Given the description of an element on the screen output the (x, y) to click on. 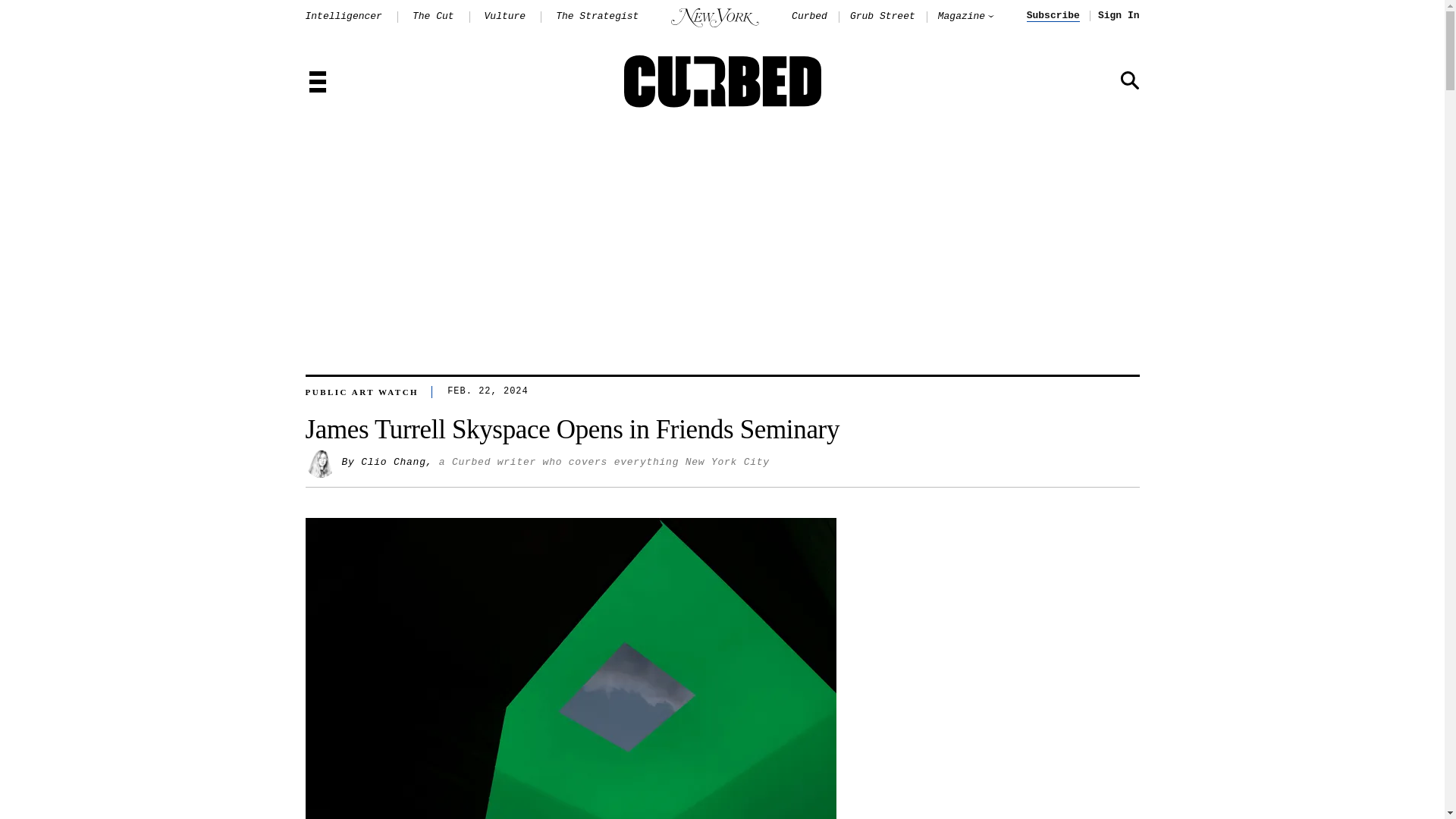
The Strategist (597, 16)
Menu (317, 82)
Grub Street (882, 16)
Sign In (1118, 15)
The Cut (433, 16)
Curbed (809, 16)
Magazine (961, 16)
Intelligencer (342, 16)
Vulture (504, 16)
Subscribe (1053, 15)
